Given the description of an element on the screen output the (x, y) to click on. 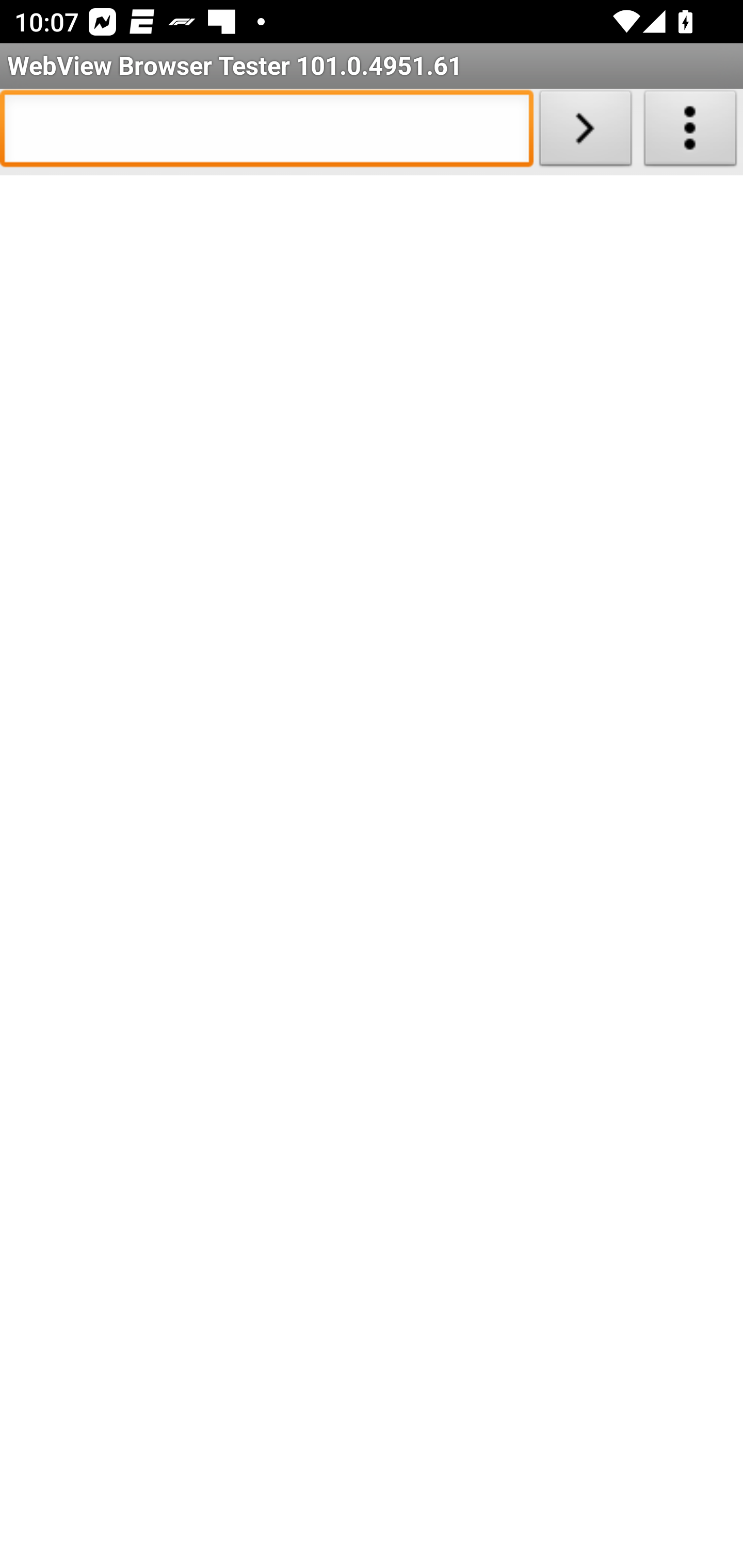
Load URL (585, 132)
About WebView (690, 132)
